Given the description of an element on the screen output the (x, y) to click on. 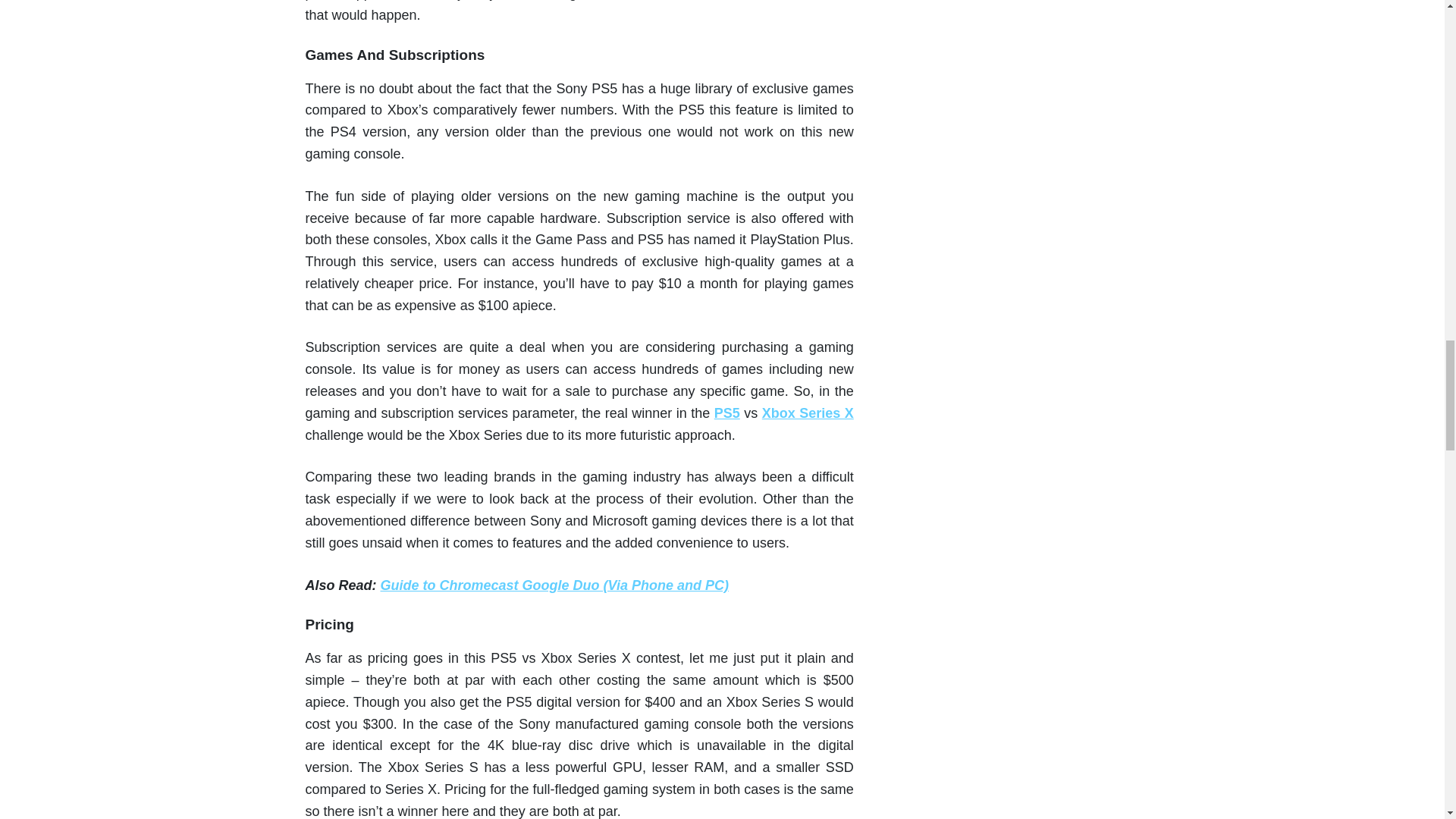
Xbox Series X (807, 412)
PS5 (726, 412)
